Given the description of an element on the screen output the (x, y) to click on. 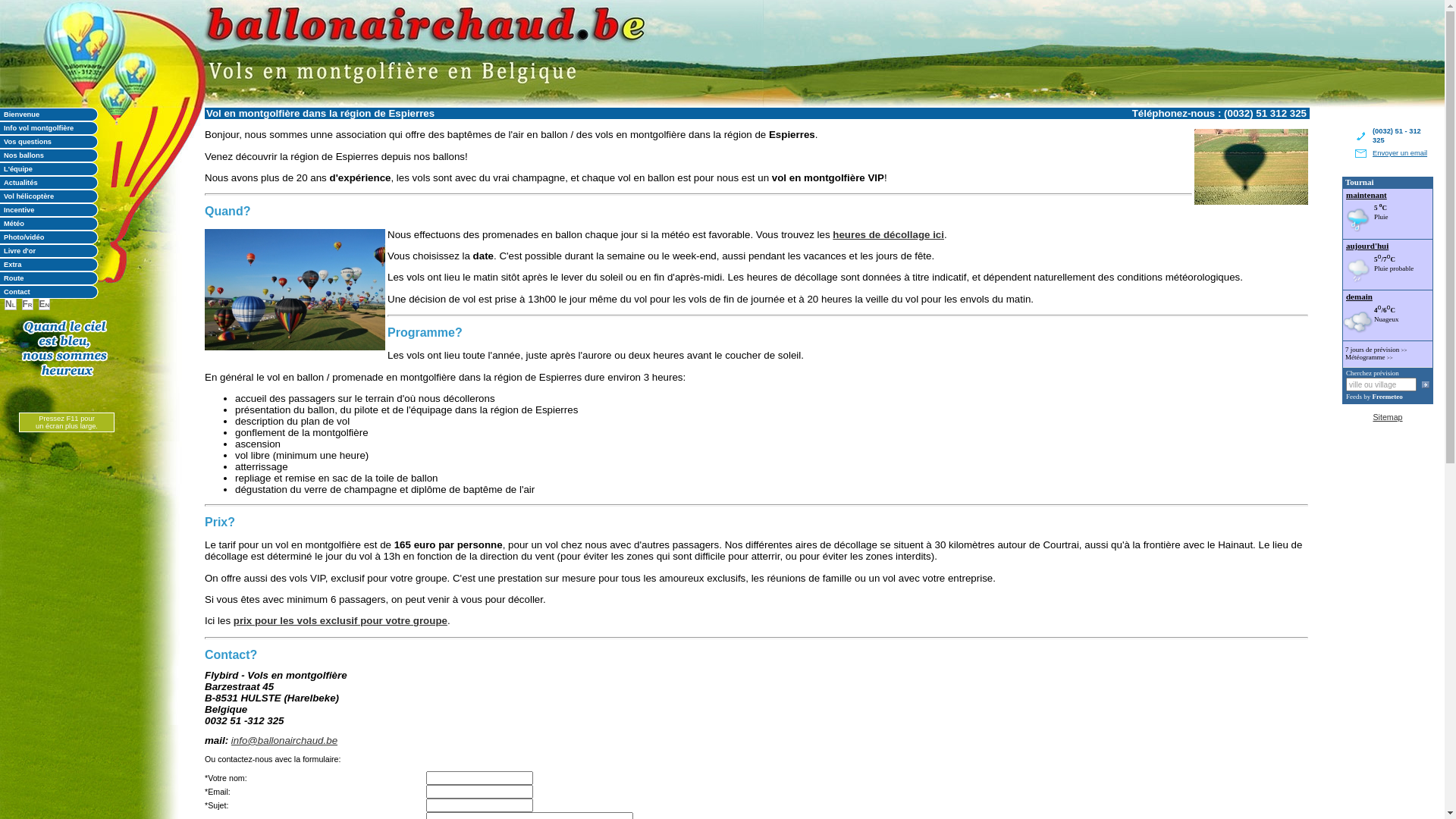
Nos ballons Element type: text (49, 155)
Livre d'or Element type: text (49, 250)
En Element type: text (44, 304)
Bienvenue Element type: text (49, 114)
Nl Element type: text (10, 304)
prix pour les vols exclusif pour votre groupe Element type: text (340, 620)
info@ballonairchaud.be Element type: text (284, 740)
Sitemap Element type: text (1387, 416)
Vos questions Element type: text (49, 141)
Route Element type: text (49, 278)
Fr Element type: text (27, 304)
Envoyer un email Element type: text (1399, 152)
Incentive Element type: text (49, 209)
Contact Element type: text (49, 291)
Extra Element type: text (49, 264)
